Given the description of an element on the screen output the (x, y) to click on. 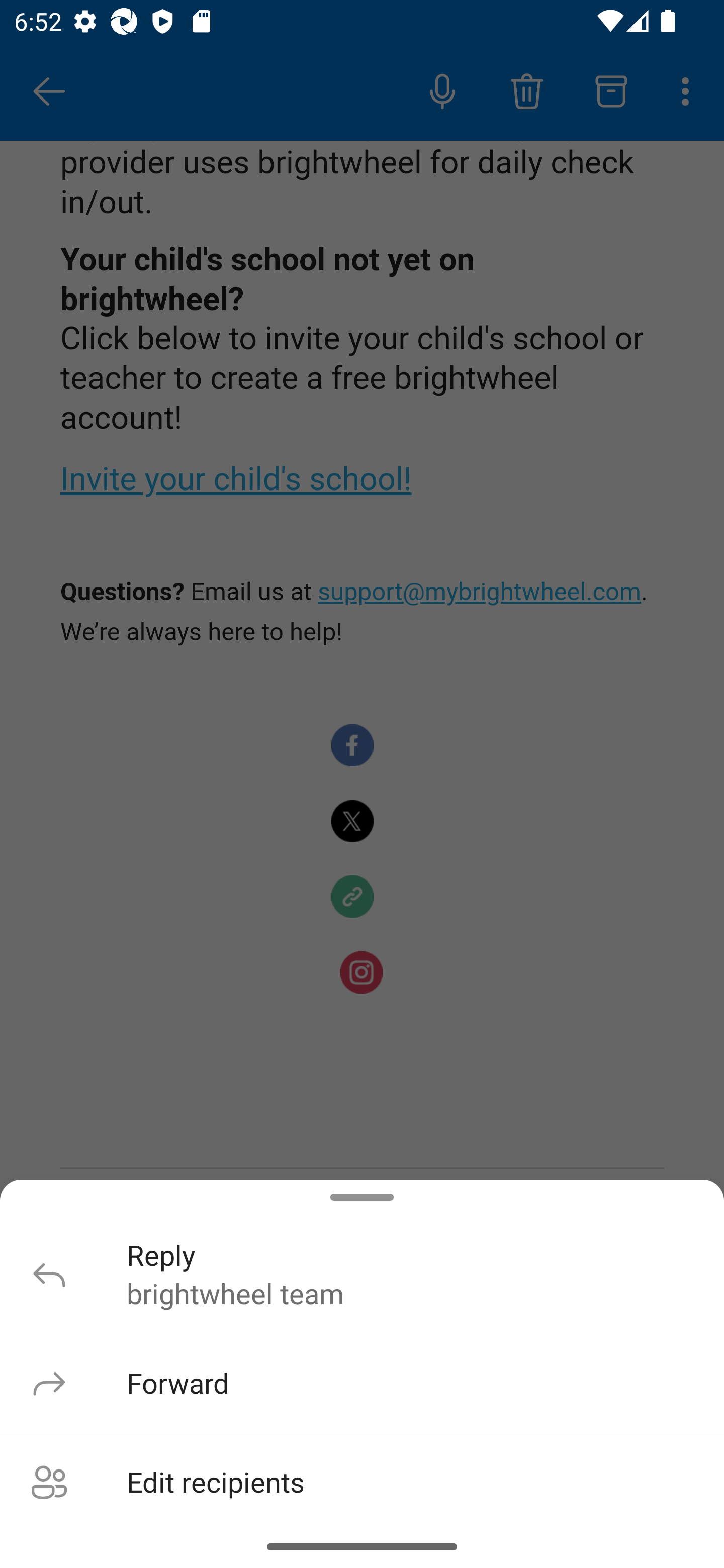
Reply Reply brightwheel team brightwheel team   (362, 1273)
Forward (362, 1381)
Edit recipients (362, 1478)
